Given the description of an element on the screen output the (x, y) to click on. 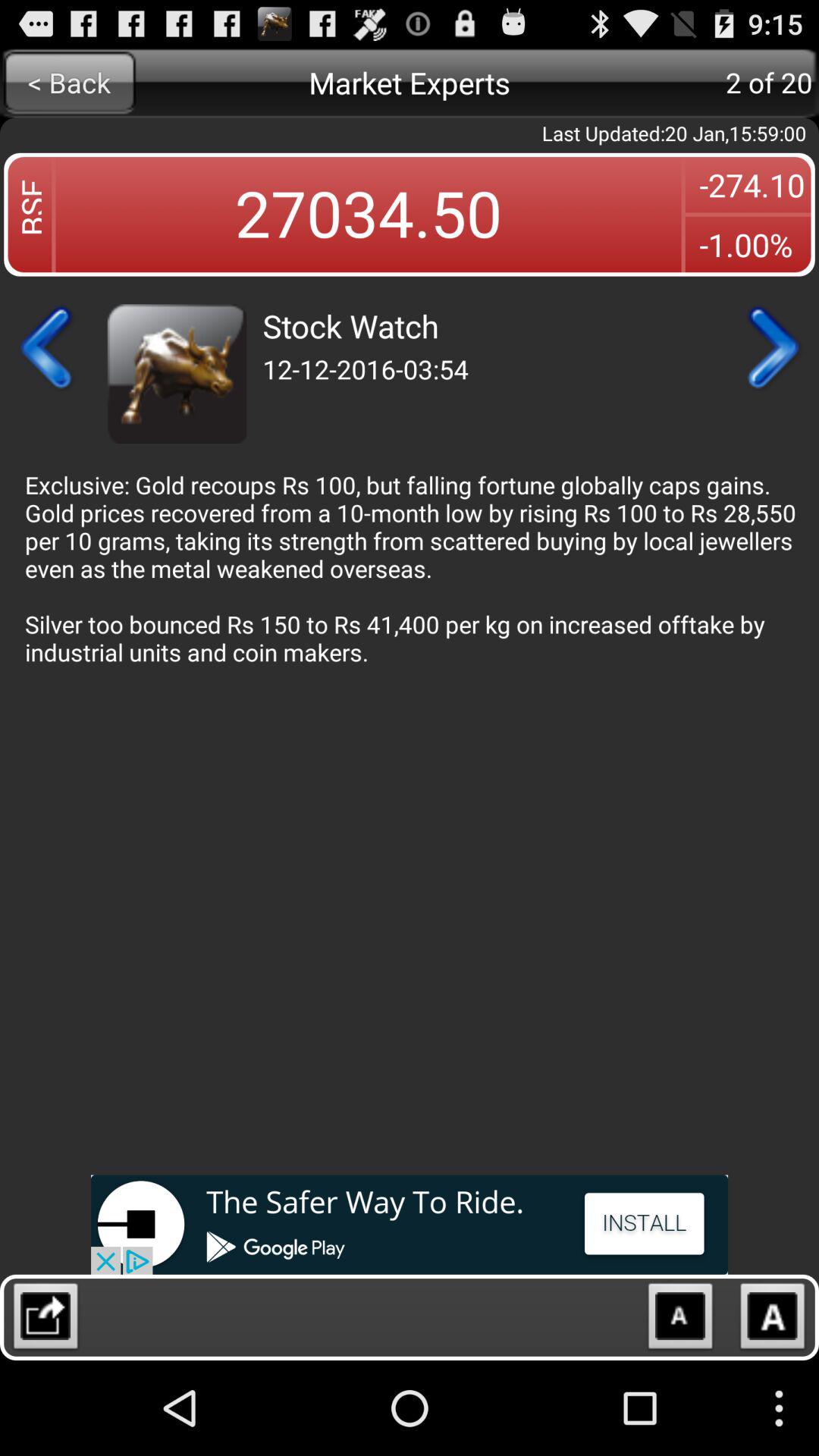
click on the first icon which is to the right side of the text filed input box (680, 1320)
click on blue color right arrow (771, 347)
